Given the description of an element on the screen output the (x, y) to click on. 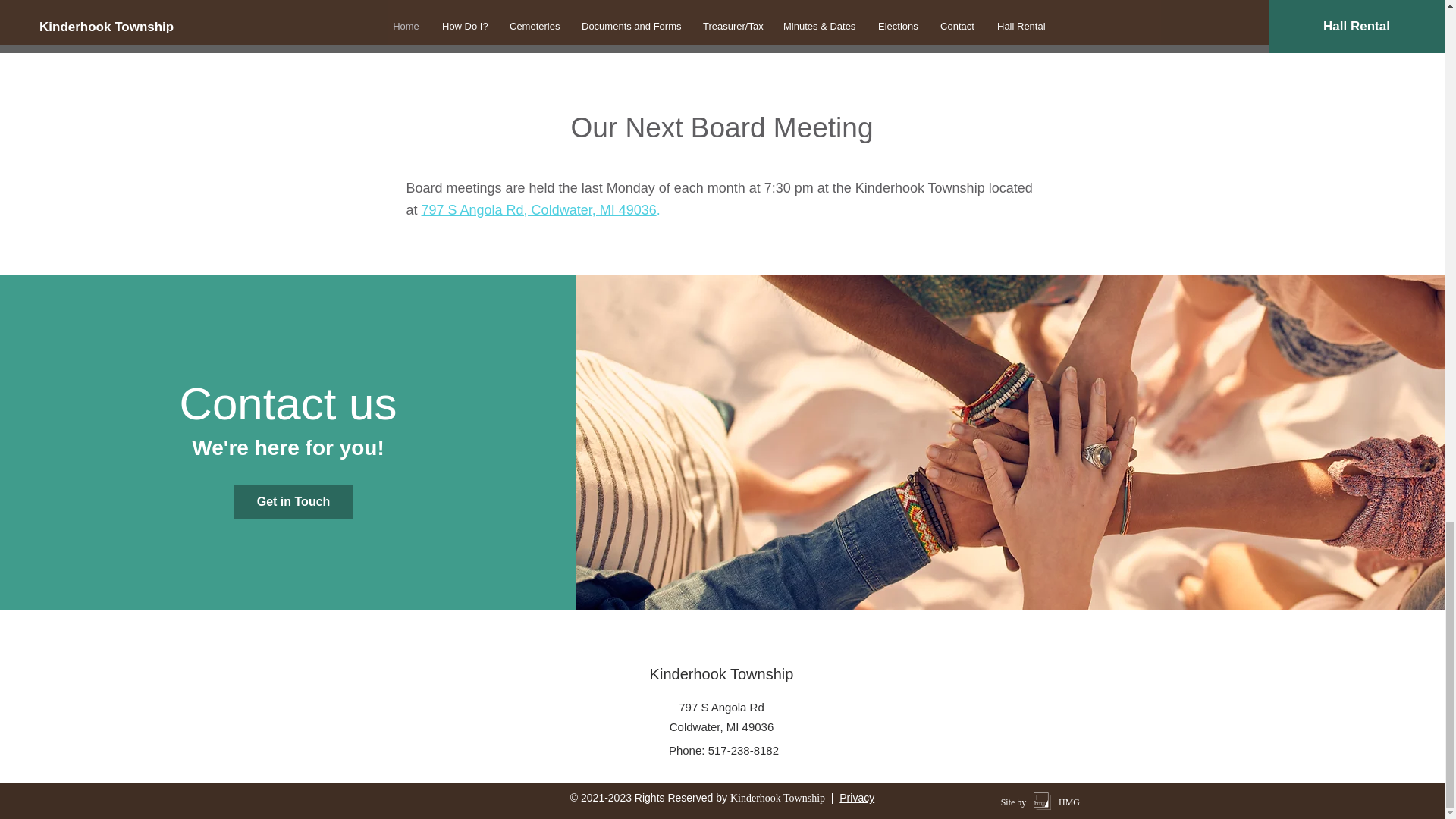
797 S Angola Rd (721, 707)
Get in Touch (293, 501)
Coldwater, MI 49036 (721, 726)
517-238-8182 (742, 749)
797 S Angola Rd, Coldwater, MI 49036 (539, 209)
